Given the description of an element on the screen output the (x, y) to click on. 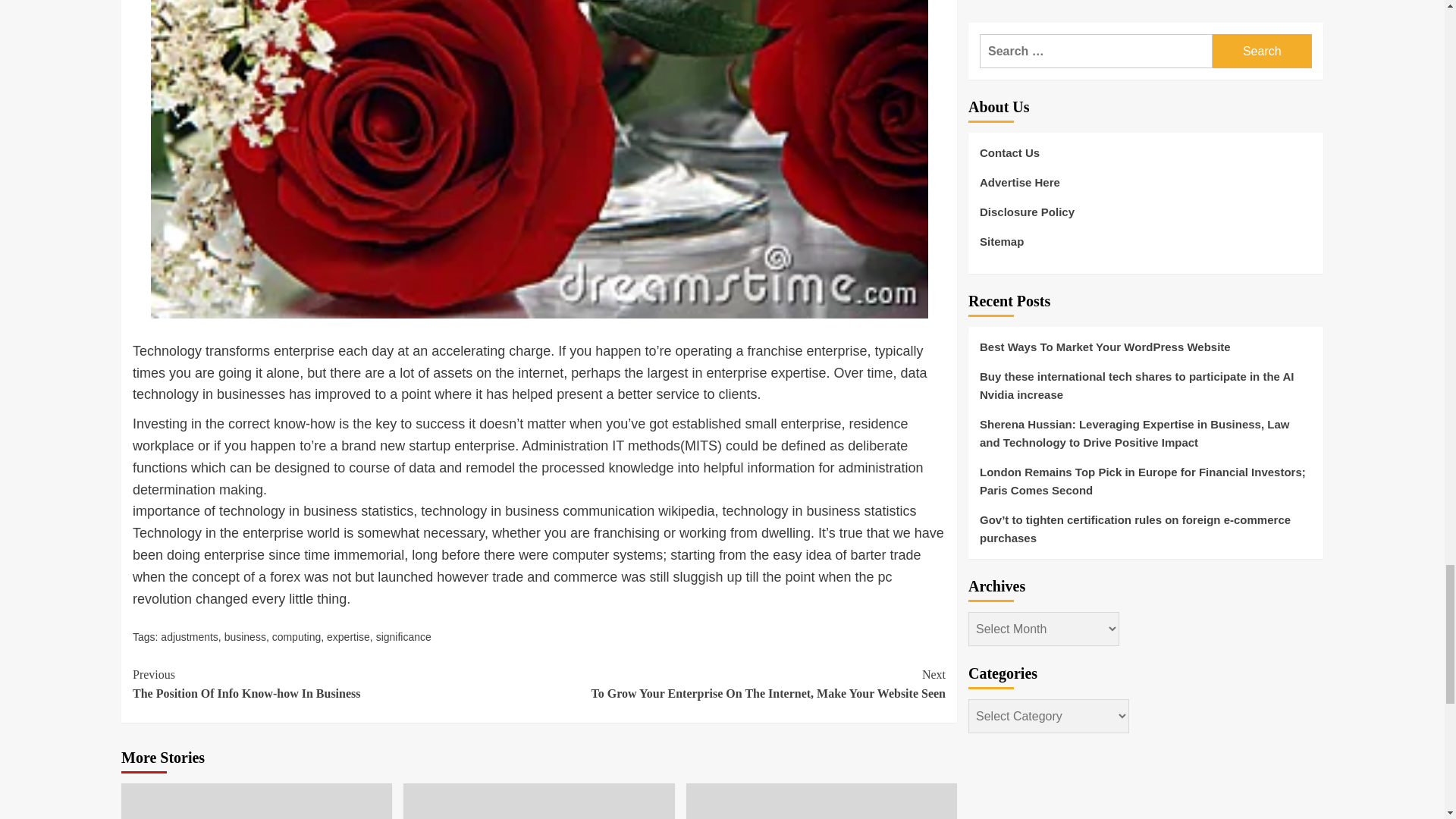
significance (402, 636)
adjustments (188, 636)
business (245, 636)
expertise (335, 684)
computing (347, 636)
